Given the description of an element on the screen output the (x, y) to click on. 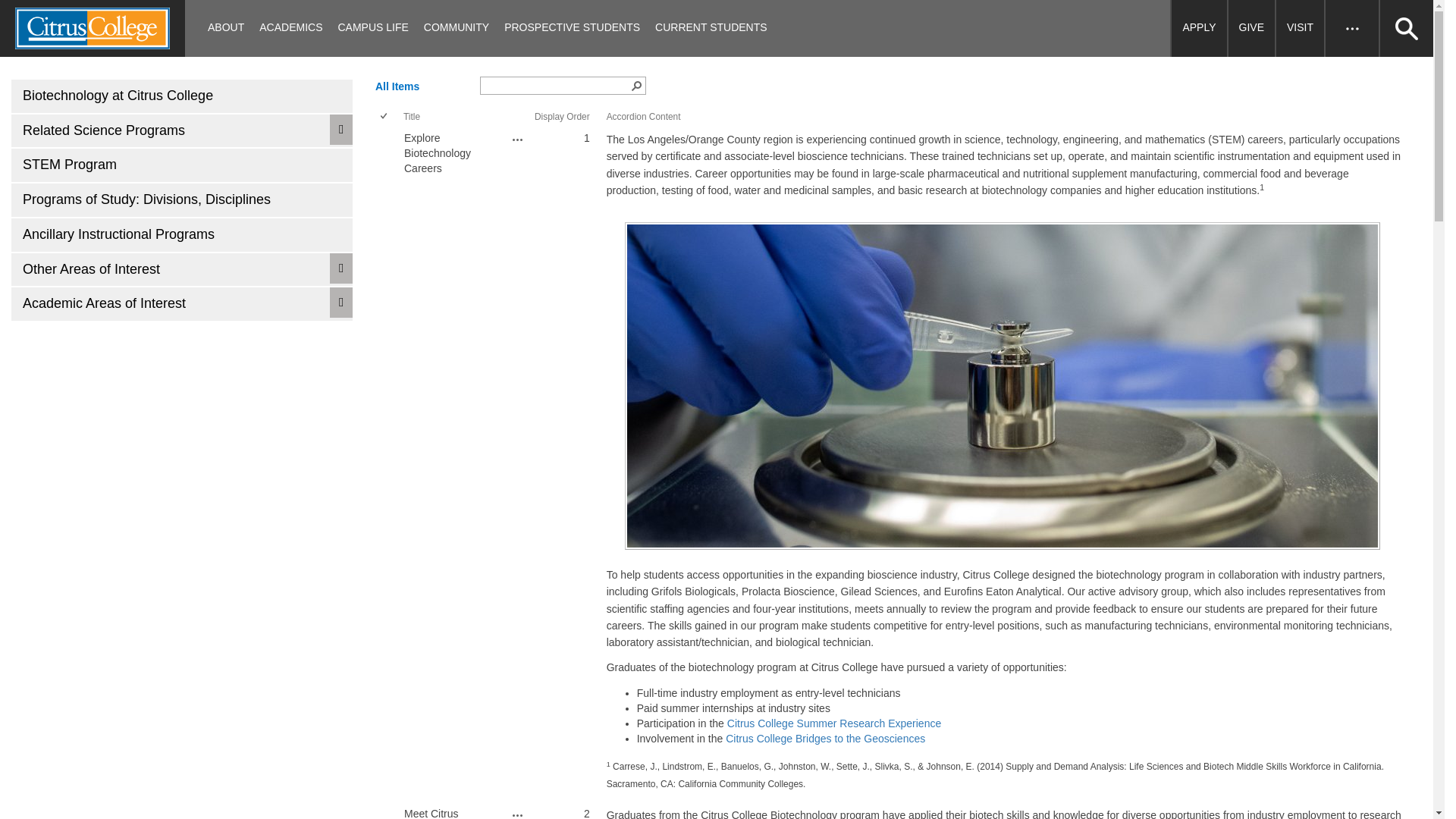
COMMUNITY (456, 28)
Search (652, 88)
Title, Click to sort by Title (411, 116)
Type something and hit enter to search this list (555, 85)
ACADEMICS (290, 28)
Display Order, Click to sort by Display Order (561, 116)
Select and deselect all items (384, 116)
More options (518, 139)
This column type can't be sorted or filtered. (644, 116)
ABOUT (225, 28)
